Given the description of an element on the screen output the (x, y) to click on. 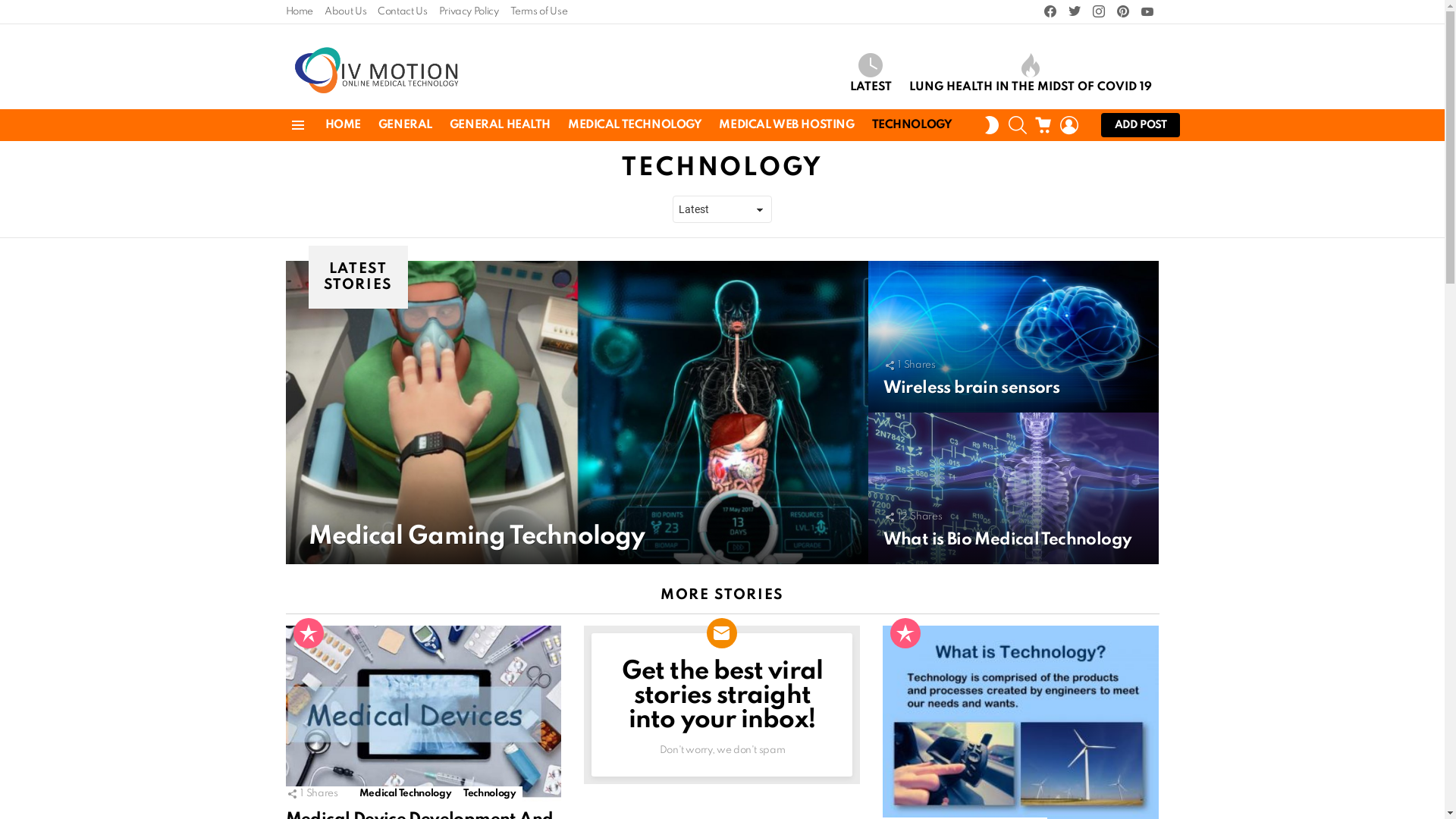
twitter Element type: text (1073, 11)
SWITCH SKIN Element type: text (991, 124)
Medical Gaming Technology Element type: text (475, 536)
GENERAL HEALTH Element type: text (500, 124)
HOME Element type: text (341, 124)
What is Bio Medical Technology Element type: text (1006, 539)
Menu Element type: text (297, 125)
LUNG HEALTH IN THE MIDST OF COVID 19 Element type: text (1029, 73)
SEARCH Element type: text (1017, 124)
youtube Element type: text (1146, 11)
TECHNOLOGY Element type: text (912, 124)
Medical Gaming Technology Element type: hover (576, 412)
About Us Element type: text (345, 12)
GENERAL Element type: text (404, 124)
Wireless brain sensors Element type: hover (1012, 336)
Contact Us Element type: text (401, 12)
ADD POST Element type: text (1140, 124)
Medical Technology Element type: text (405, 793)
instagram Element type: text (1097, 11)
Terms of Use Element type: text (538, 12)
LATEST Element type: text (869, 73)
CART Element type: text (1043, 124)
facebook Element type: text (1049, 11)
pinterest Element type: text (1122, 11)
LOGIN Element type: text (1069, 124)
Home Element type: text (299, 12)
Medical Device Development And Technology Element type: hover (423, 712)
Privacy Policy Element type: text (468, 12)
Wireless brain sensors Element type: text (970, 387)
MEDICAL WEB HOSTING Element type: text (786, 124)
What is Bio Medical Technology Element type: hover (1012, 488)
Technology Element type: text (489, 793)
MEDICAL TECHNOLOGY Element type: text (634, 124)
